Given the description of an element on the screen output the (x, y) to click on. 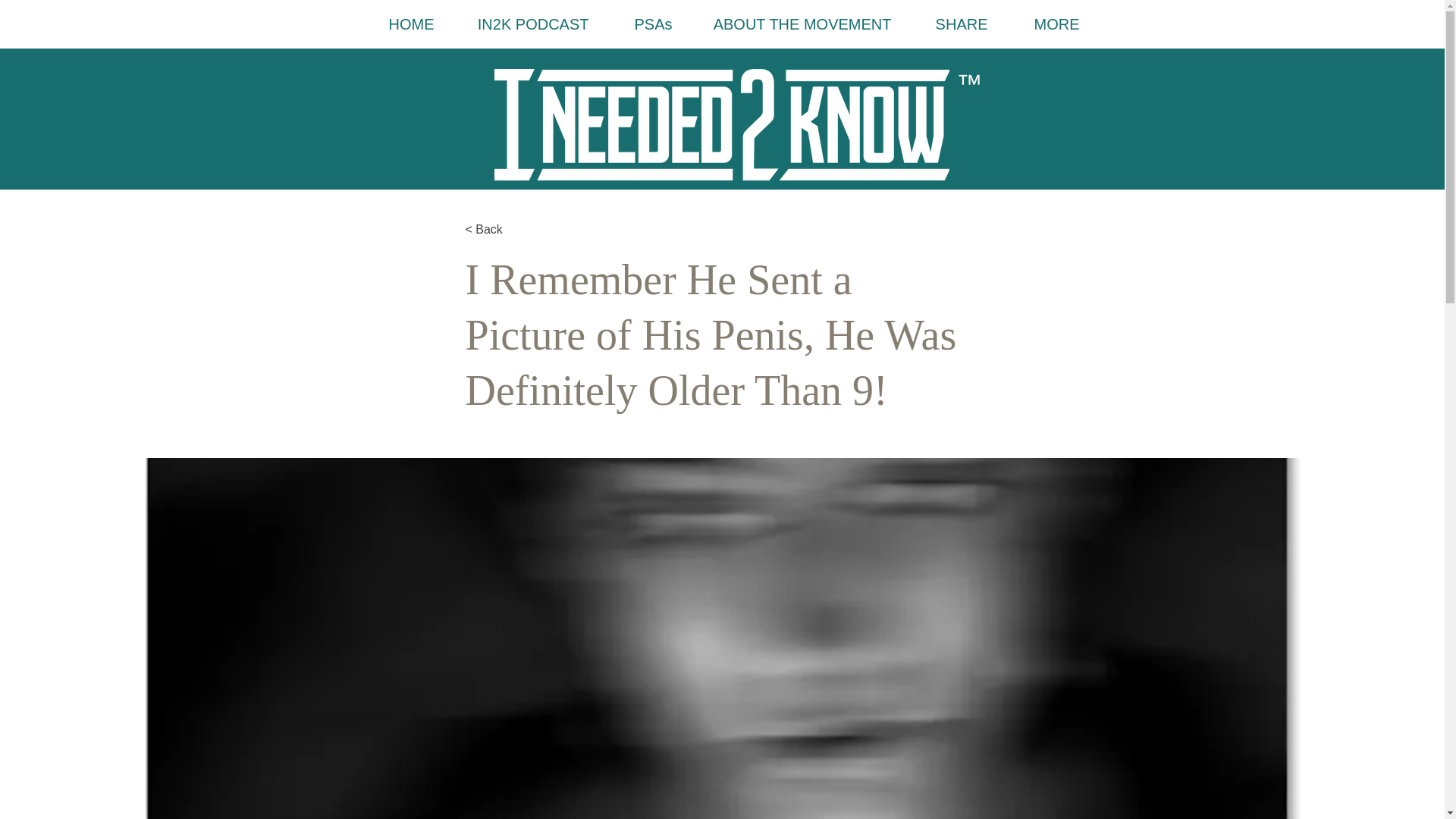
MORE (1044, 24)
HOME (399, 24)
SHARE (950, 24)
ABOUT THE MOVEMENT (793, 24)
PSAs (641, 24)
IN2K PODCAST (522, 24)
